Given the description of an element on the screen output the (x, y) to click on. 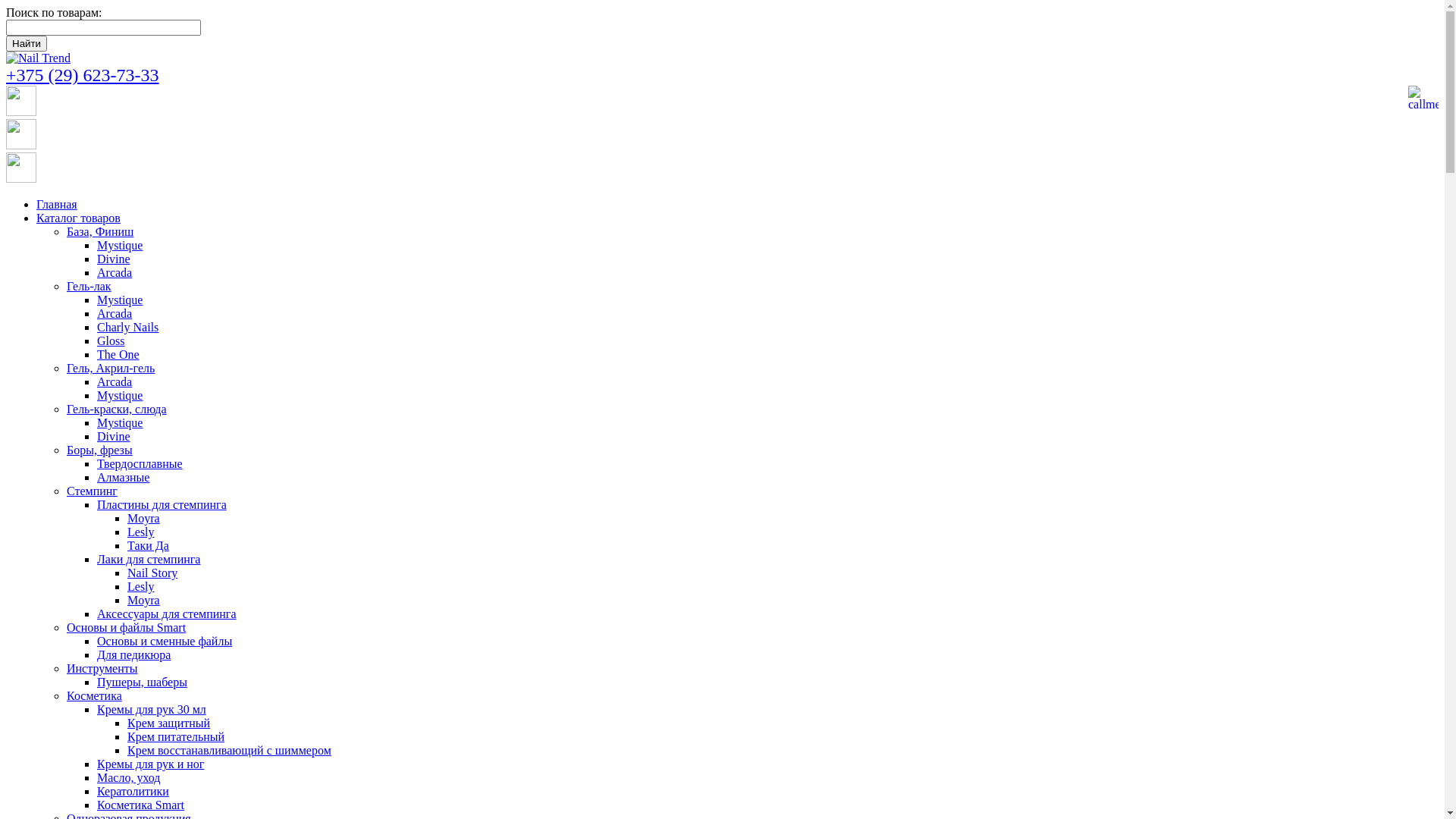
+375 (29) 623-73-33 Element type: text (82, 74)
Moyra Element type: text (143, 599)
Divine Element type: text (113, 435)
Nail Story Element type: text (152, 572)
Lesly Element type: text (140, 586)
Charly Nails Element type: text (127, 326)
Divine Element type: text (113, 258)
Lesly Element type: text (140, 531)
Arcada Element type: text (114, 313)
Arcada Element type: text (114, 381)
Mystique Element type: text (119, 244)
Moyra Element type: text (143, 517)
Nail Trend Element type: hover (38, 58)
Mystique Element type: text (119, 395)
Mystique Element type: text (119, 422)
The One Element type: text (118, 354)
Arcada Element type: text (114, 272)
Gloss Element type: text (110, 340)
Mystique Element type: text (119, 299)
